Given the description of an element on the screen output the (x, y) to click on. 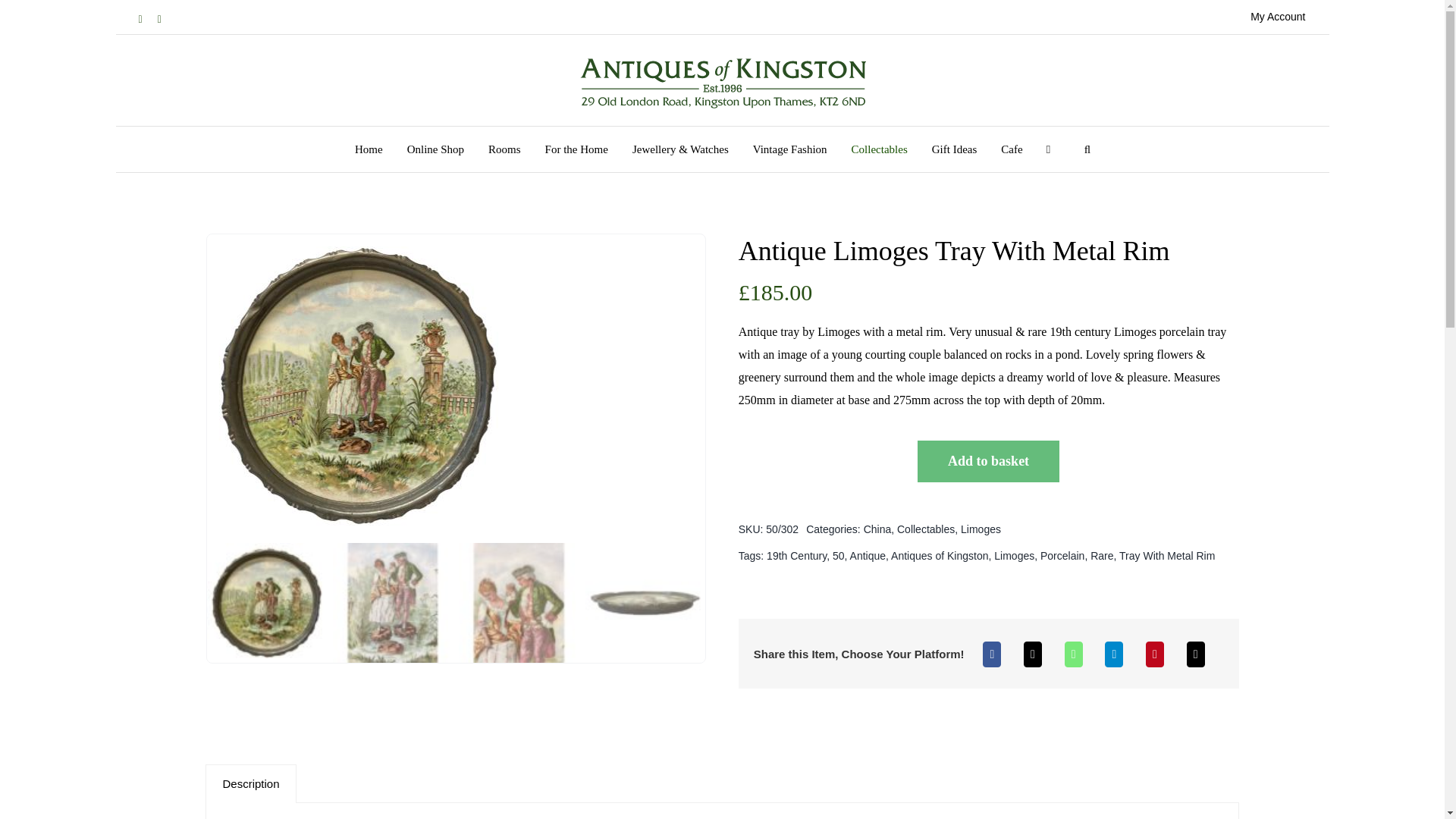
My Account (1277, 17)
Online Shop (435, 148)
Log In (1356, 177)
